Given the description of an element on the screen output the (x, y) to click on. 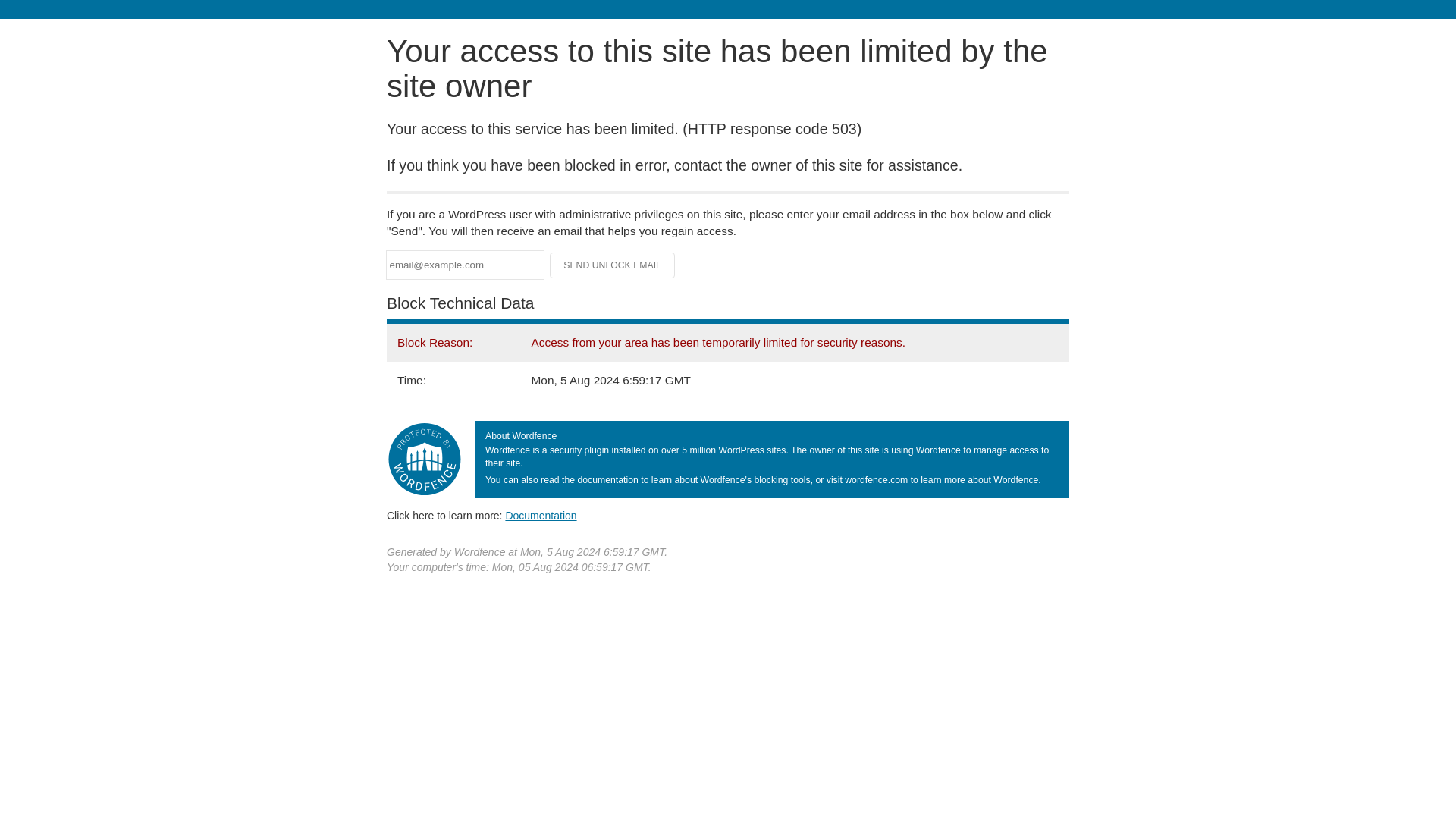
Documentation (540, 515)
Send Unlock Email (612, 265)
Send Unlock Email (612, 265)
